Given the description of an element on the screen output the (x, y) to click on. 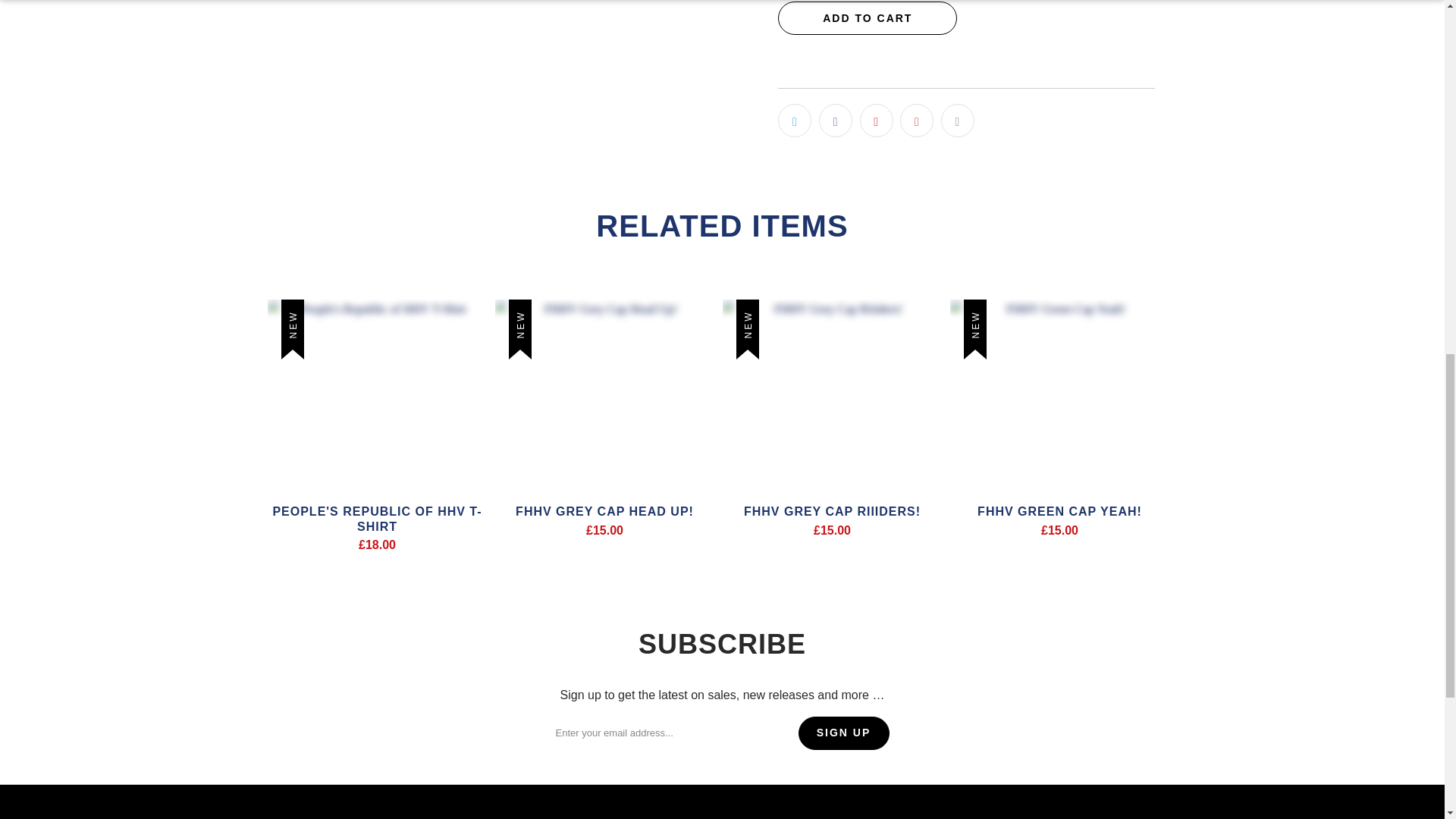
Share this on Twitter (793, 120)
Share this on Pinterest (876, 120)
Email this to a friend (957, 120)
Sign Up (842, 733)
Share this on Facebook (834, 120)
